Given the description of an element on the screen output the (x, y) to click on. 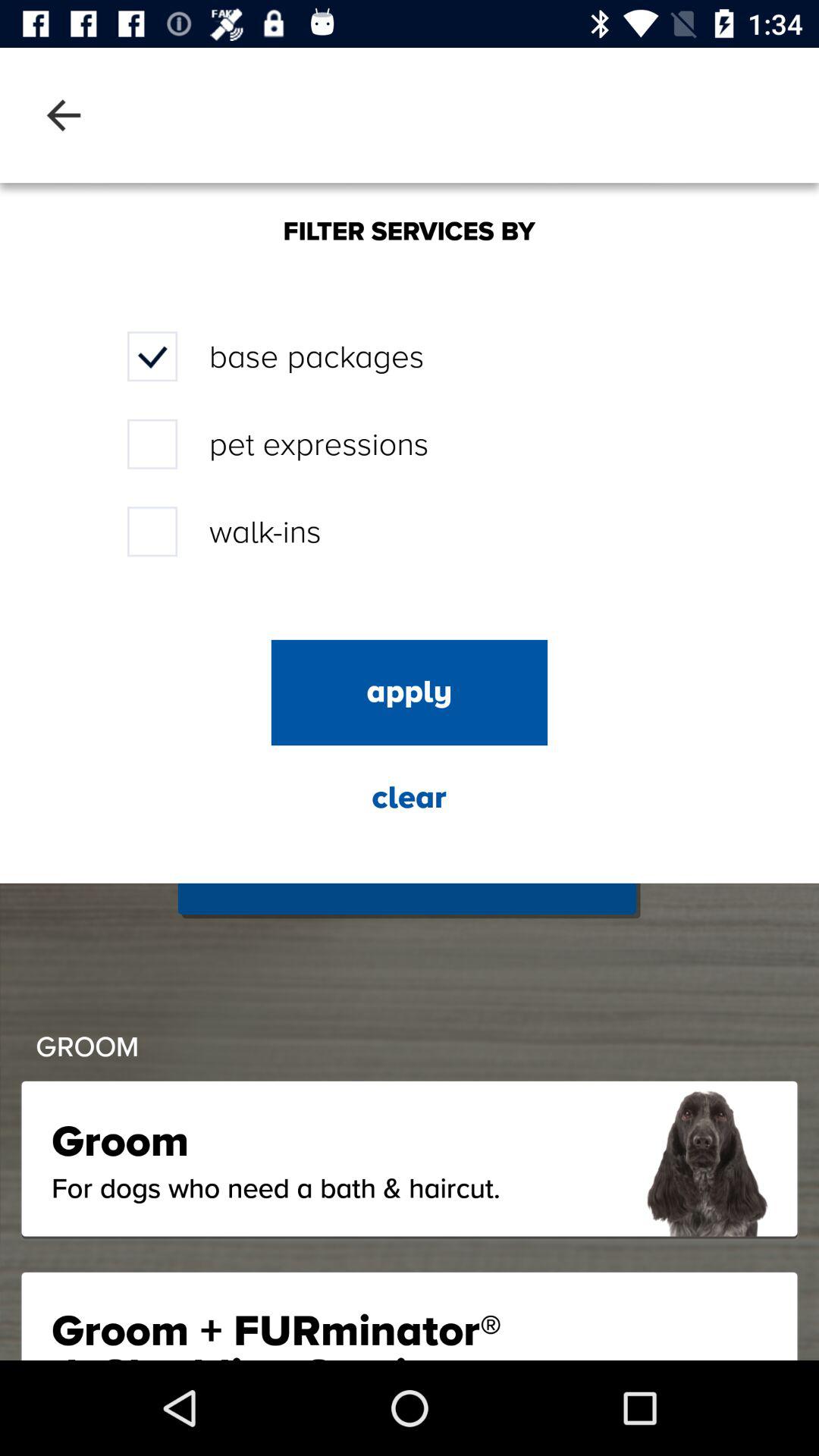
launch clear icon (409, 798)
